Given the description of an element on the screen output the (x, y) to click on. 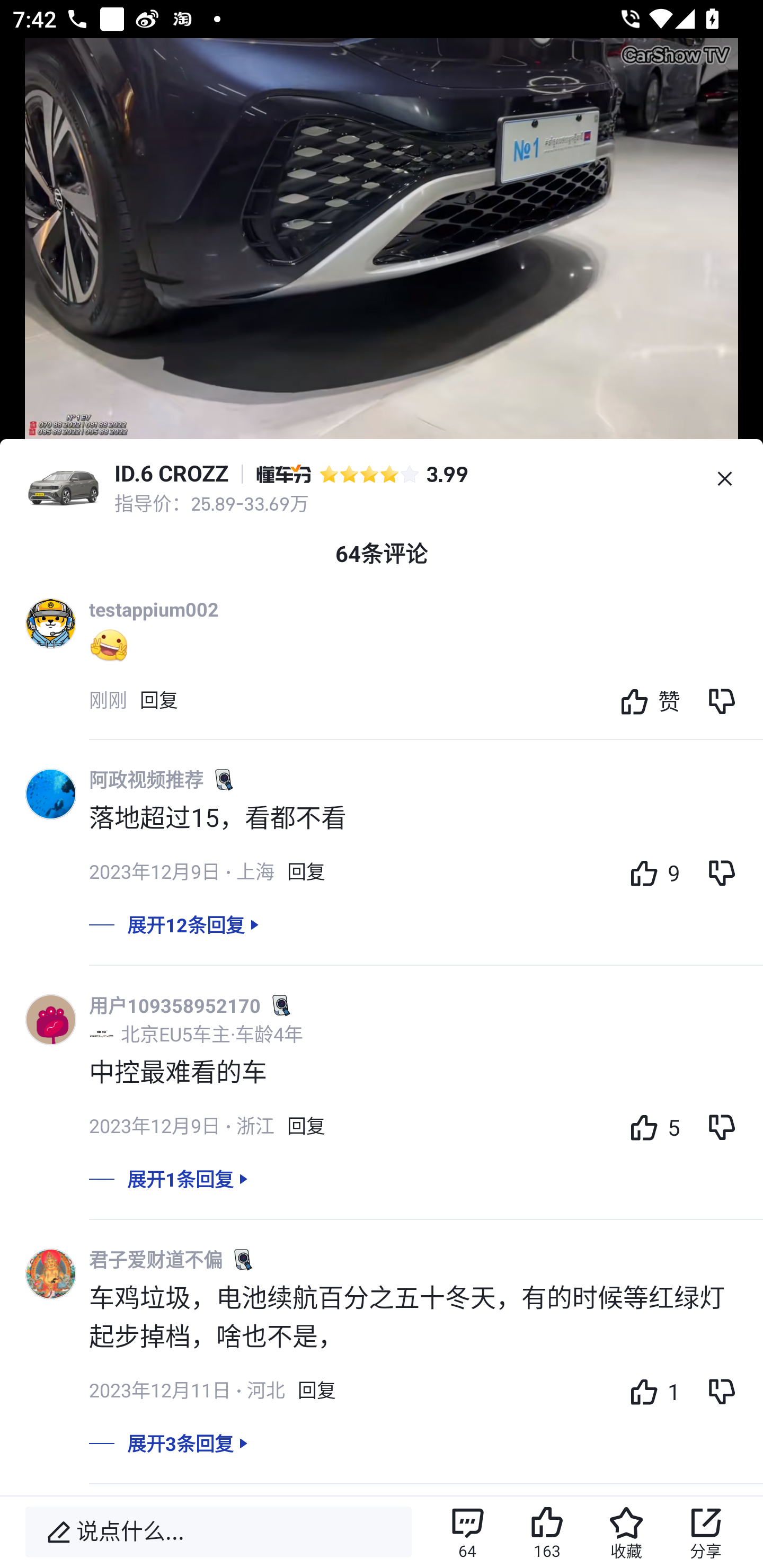
ID.6 CROZZ 3.99 指导价：25.89-33.69万 (381, 479)
testappium002 [耶] 刚刚 回复 赞 (426, 666)
testappium002 (153, 609)
赞 (645, 700)
阿政视频推荐 落地超过15，看都不看 2023年12月9日 < >上海 回复 9 (426, 838)
阿政视频推荐 (146, 779)
9 (649, 872)
展开12条回复  (381, 937)
用户109358952170 (174, 1004)
5 (649, 1126)
展开1条回复  (381, 1191)
君子爱财道不偏 (155, 1258)
1 (649, 1390)
展开3条回复  (381, 1455)
 64 (467, 1531)
163 (546, 1531)
收藏 (625, 1531)
 分享 (705, 1531)
 说点什么... (218, 1531)
